Given the description of an element on the screen output the (x, y) to click on. 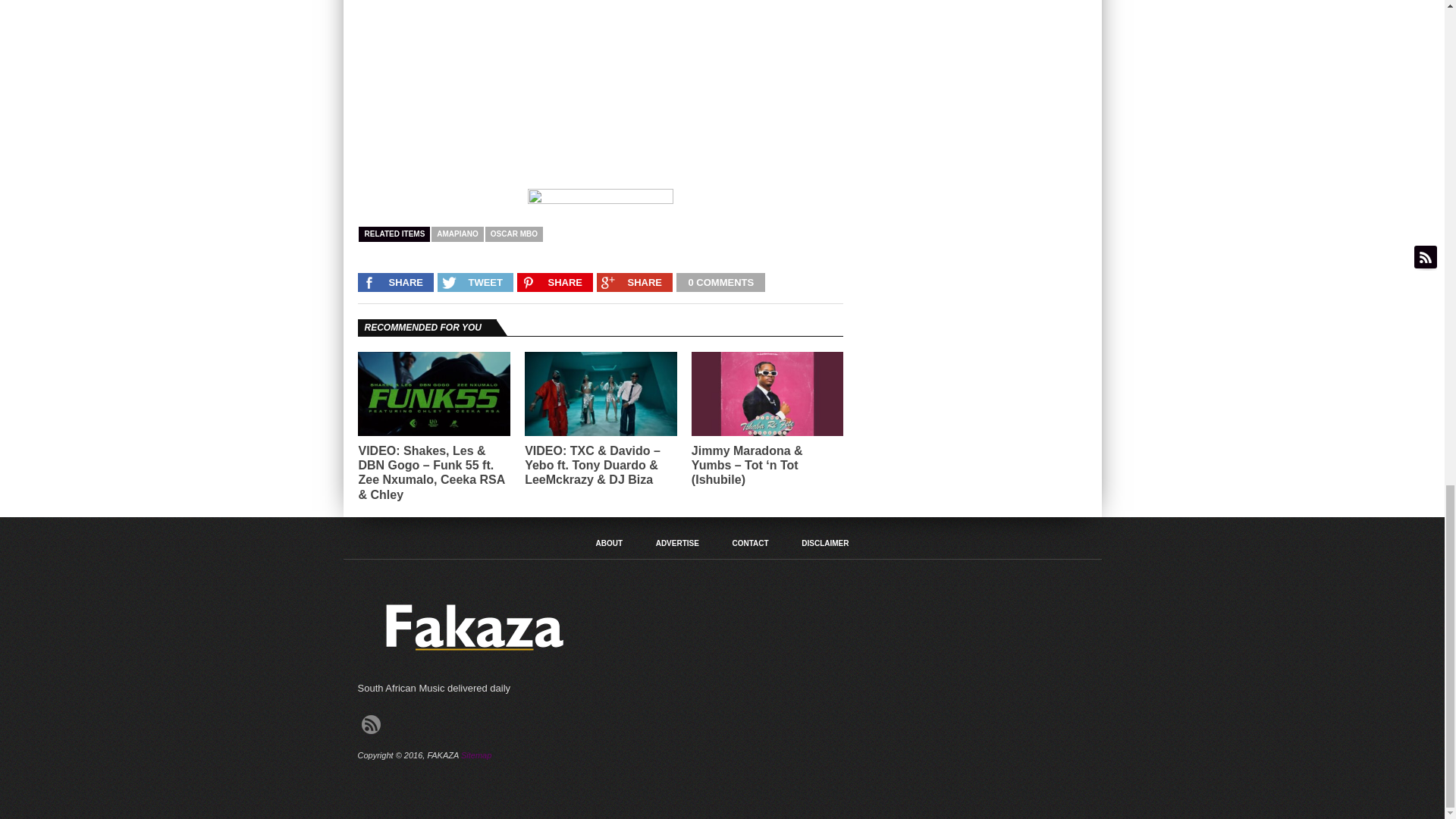
OSCAR MBO (513, 233)
AMAPIANO (456, 233)
